Given the description of an element on the screen output the (x, y) to click on. 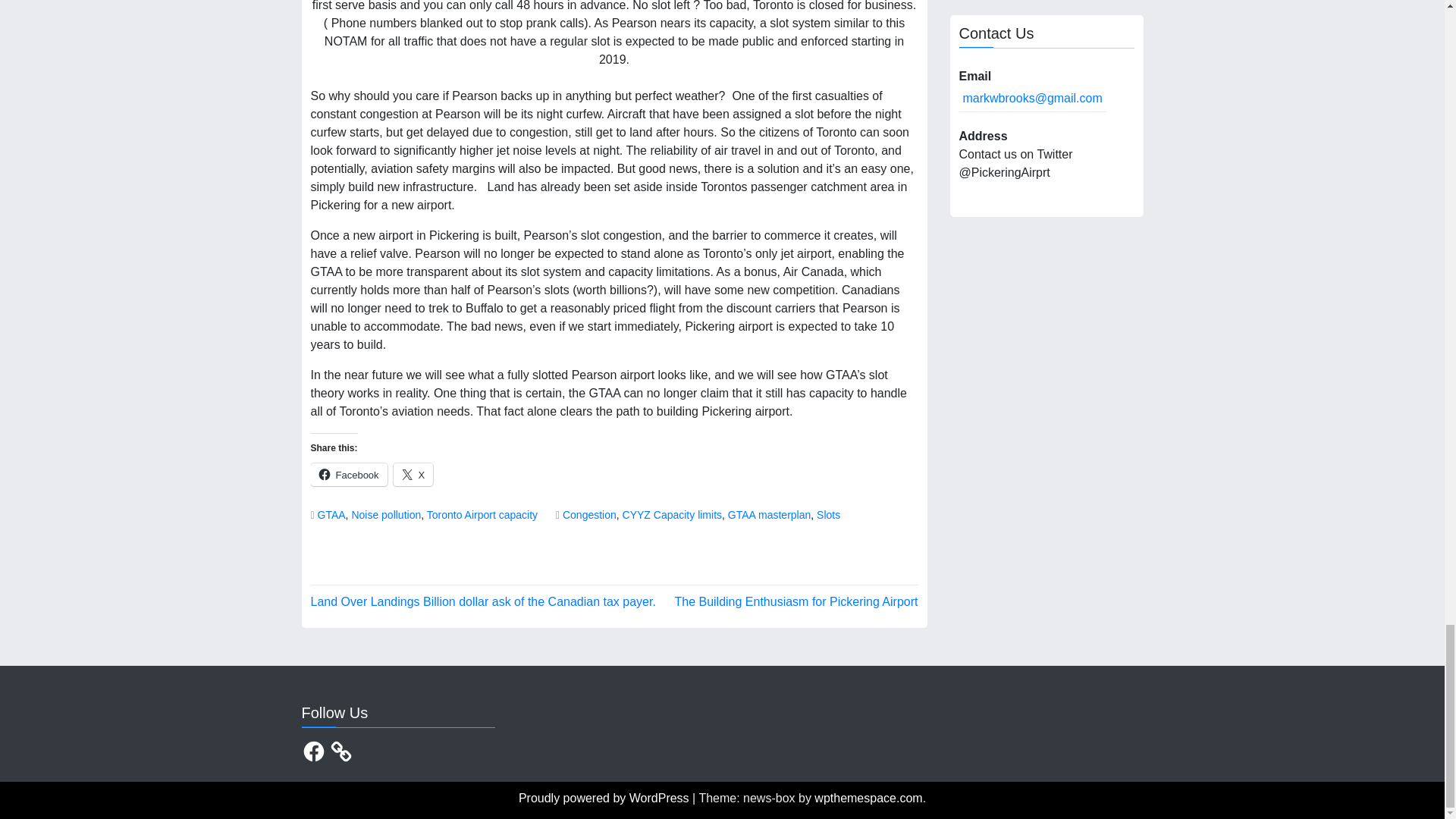
GTAA (331, 514)
GTAA masterplan (769, 514)
CYYZ Capacity limits (672, 514)
Click to share on X (413, 474)
Facebook (349, 474)
Click to share on Facebook (349, 474)
Facebook (313, 751)
The Building Enthusiasm for Pickering Airport (795, 601)
Noise pollution (385, 514)
Proudly powered by WordPress (605, 797)
Toronto Airport capacity (481, 514)
Congestion (588, 514)
wpthemespace.com (867, 797)
X (413, 474)
